Given the description of an element on the screen output the (x, y) to click on. 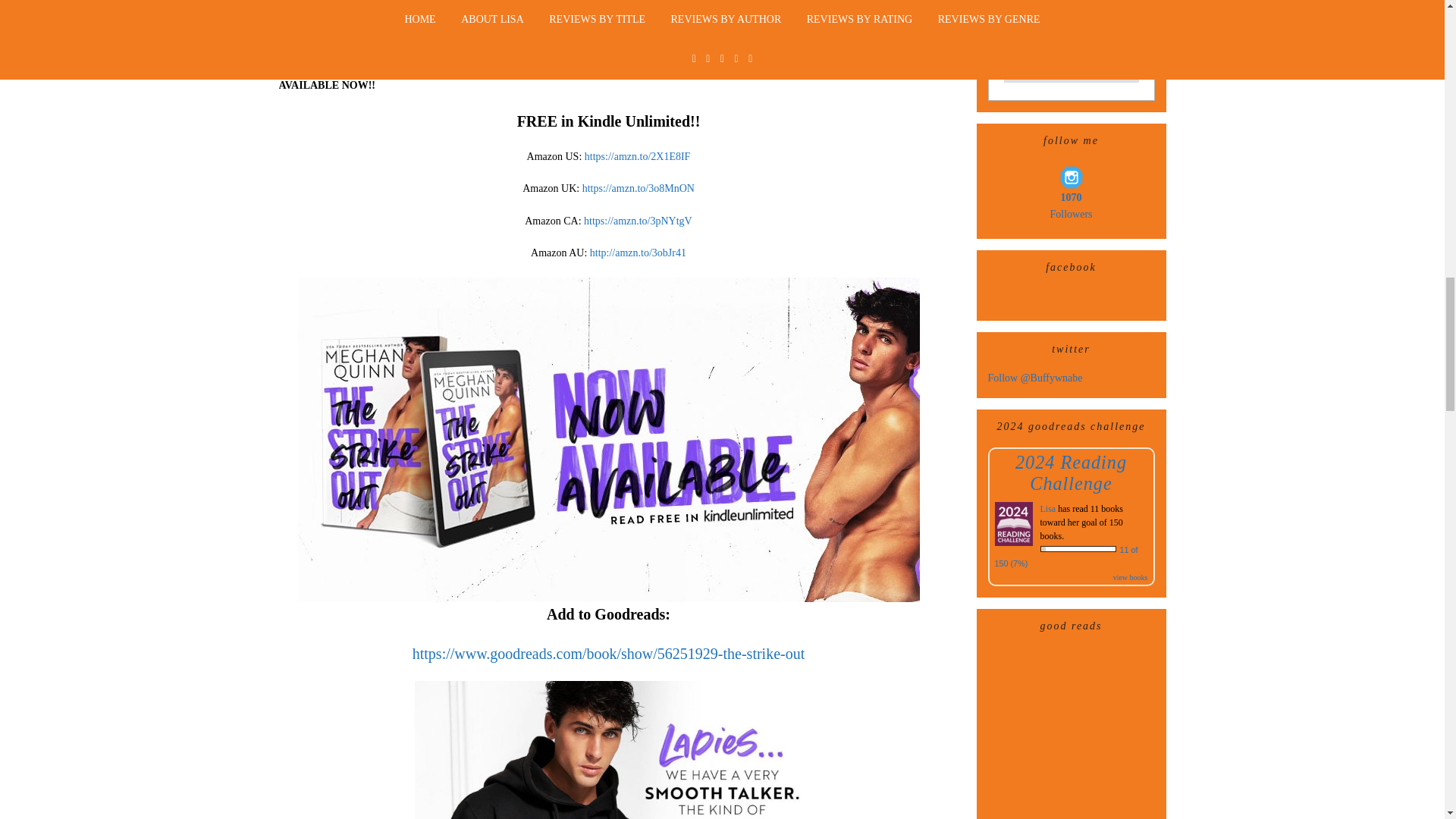
Subscribe (1071, 68)
